Given the description of an element on the screen output the (x, y) to click on. 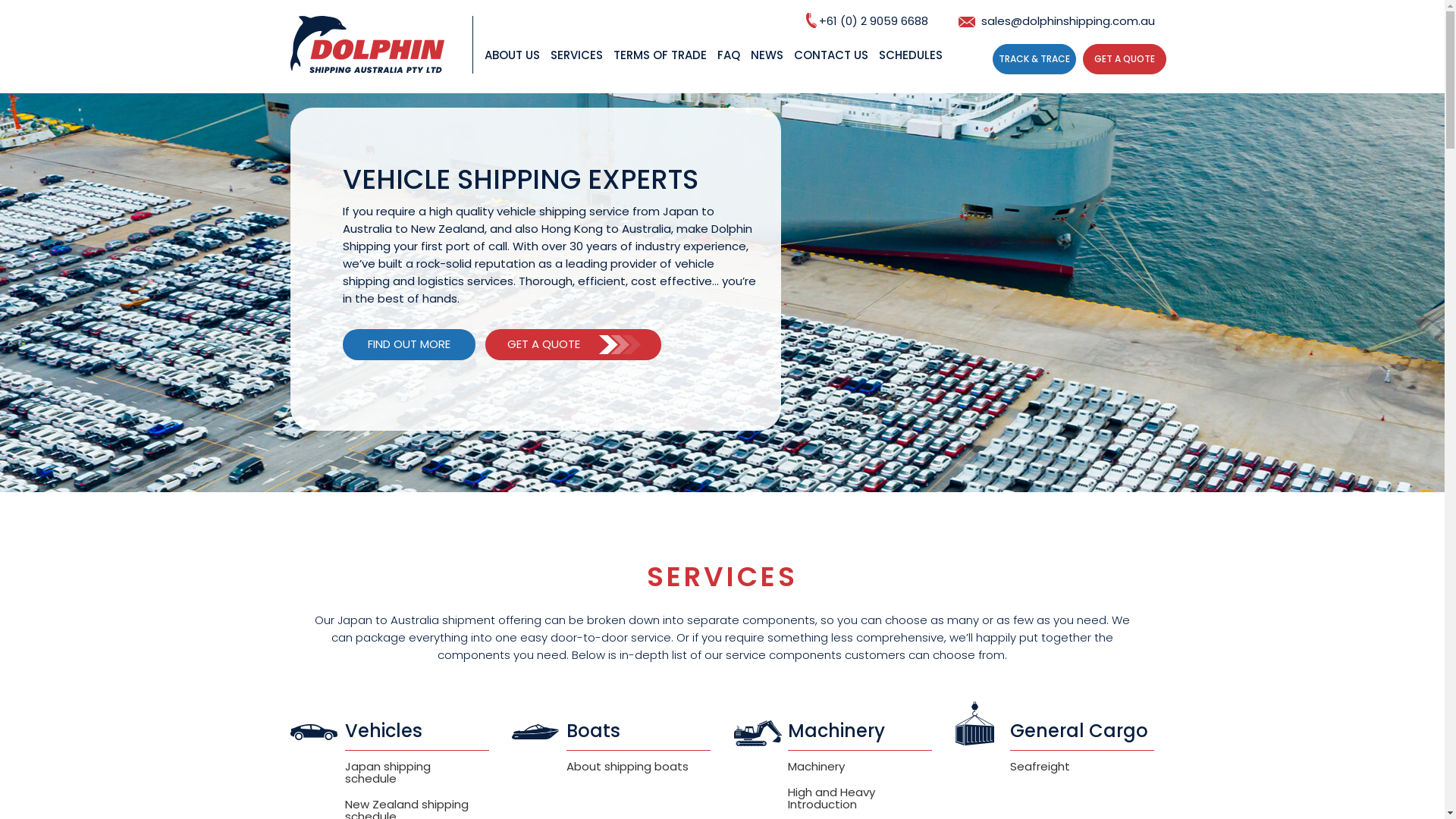
High and Heavy Introduction Element type: text (830, 798)
CONTACT US Element type: text (830, 68)
+61 (0) 2 9059 6688 Element type: text (866, 20)
FAQ Element type: text (728, 68)
TERMS OF TRADE Element type: text (659, 68)
ABOUT US Element type: text (511, 68)
About shipping boats Element type: text (627, 766)
TRACK & TRACE Element type: text (1033, 58)
SCHEDULES Element type: text (909, 68)
GET A QUOTE Element type: text (573, 344)
sales@dolphinshipping.com.au Element type: text (1056, 20)
NEWS Element type: text (766, 68)
SERVICES Element type: text (576, 68)
Seafreight Element type: text (1040, 766)
GET A QUOTE Element type: text (1124, 58)
Machinery Element type: text (815, 766)
Japan shipping schedule Element type: text (386, 772)
FIND OUT MORE Element type: text (408, 344)
